Given the description of an element on the screen output the (x, y) to click on. 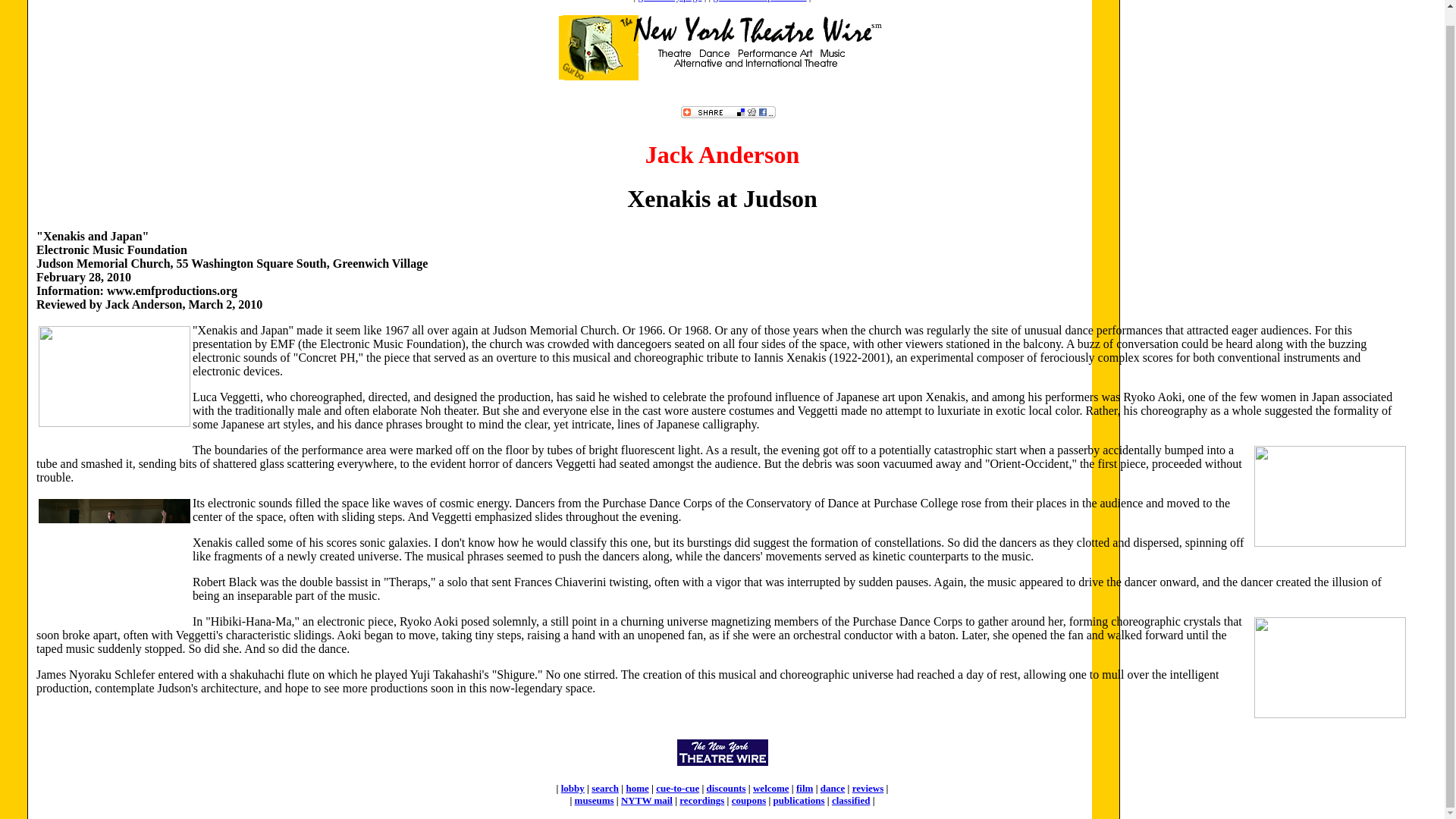
go to other departments (759, 1)
welcome (770, 787)
cue-to-cue (677, 787)
film (804, 787)
reviews (867, 787)
dance (833, 787)
lobby (572, 787)
home (636, 787)
publications (799, 799)
coupons (749, 799)
